Given the description of an element on the screen output the (x, y) to click on. 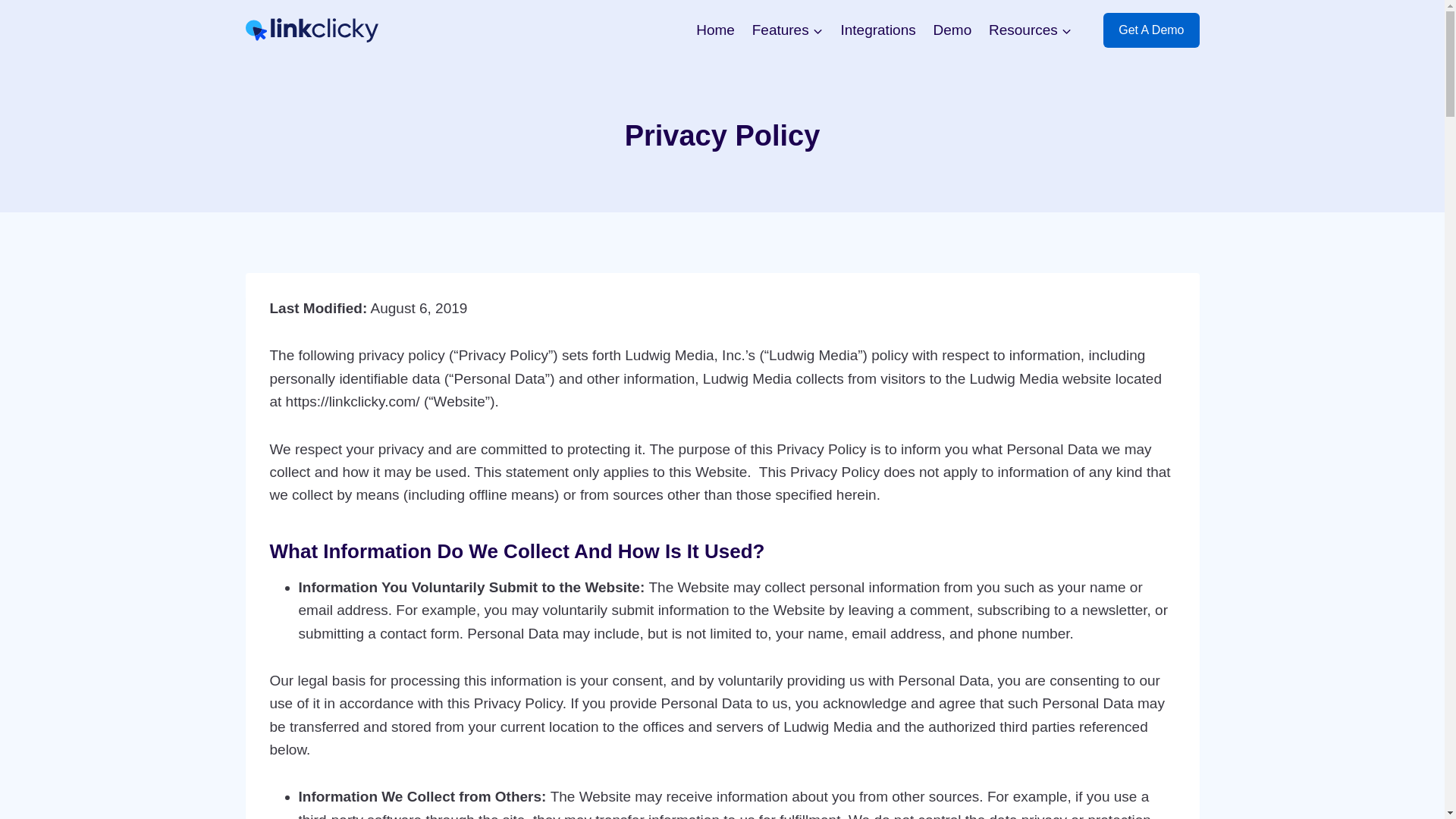
Features (786, 29)
Get A Demo (1150, 30)
Resources (1030, 29)
Integrations (877, 29)
Demo (951, 29)
Home (714, 29)
